Given the description of an element on the screen output the (x, y) to click on. 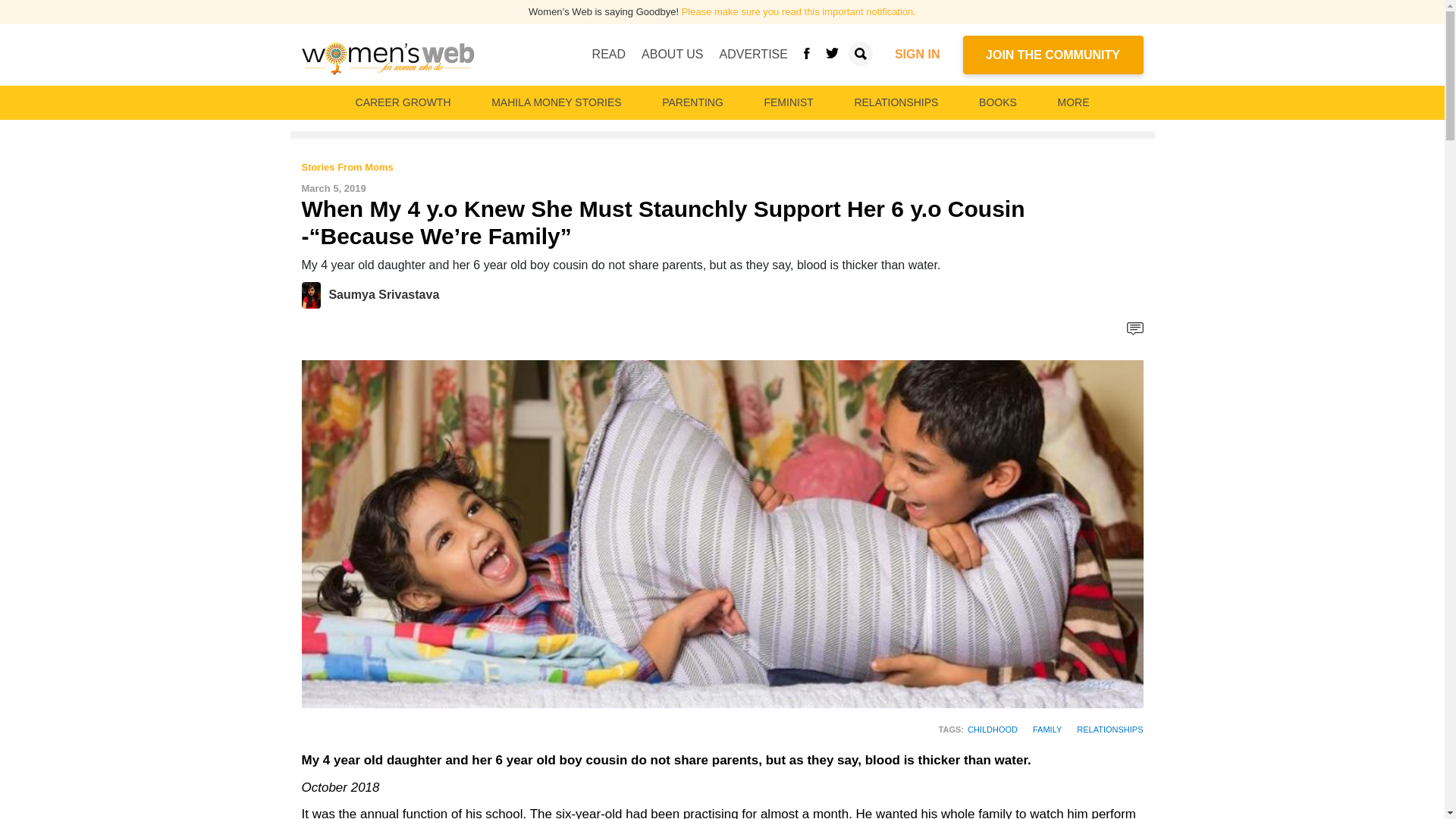
MORE (1072, 102)
BOOKS (998, 102)
READ (608, 54)
ADVERTISE (753, 54)
FEMINIST (788, 102)
ABOUT US (672, 54)
Please make sure you read this important notification. (798, 11)
RELATIONSHIPS (894, 102)
Saumya Srivastava (315, 294)
Saumya Srivastava (384, 294)
